Given the description of an element on the screen output the (x, y) to click on. 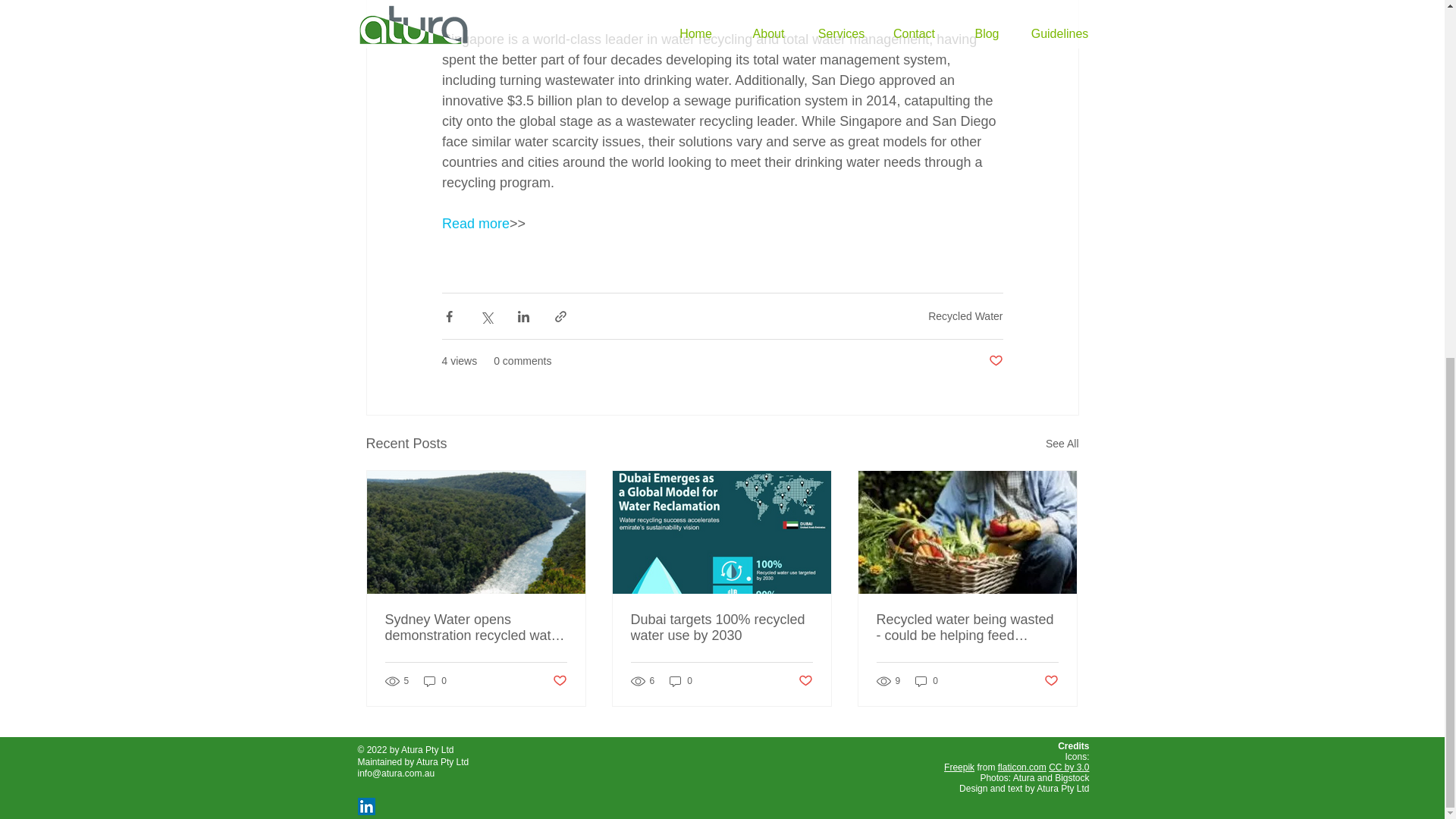
Recycled Water (965, 316)
0 (435, 681)
Post not marked as liked (558, 680)
Read more (474, 223)
See All (1061, 444)
Post not marked as liked (995, 360)
Sydney Water opens demonstration recycled water plant (476, 627)
